Given the description of an element on the screen output the (x, y) to click on. 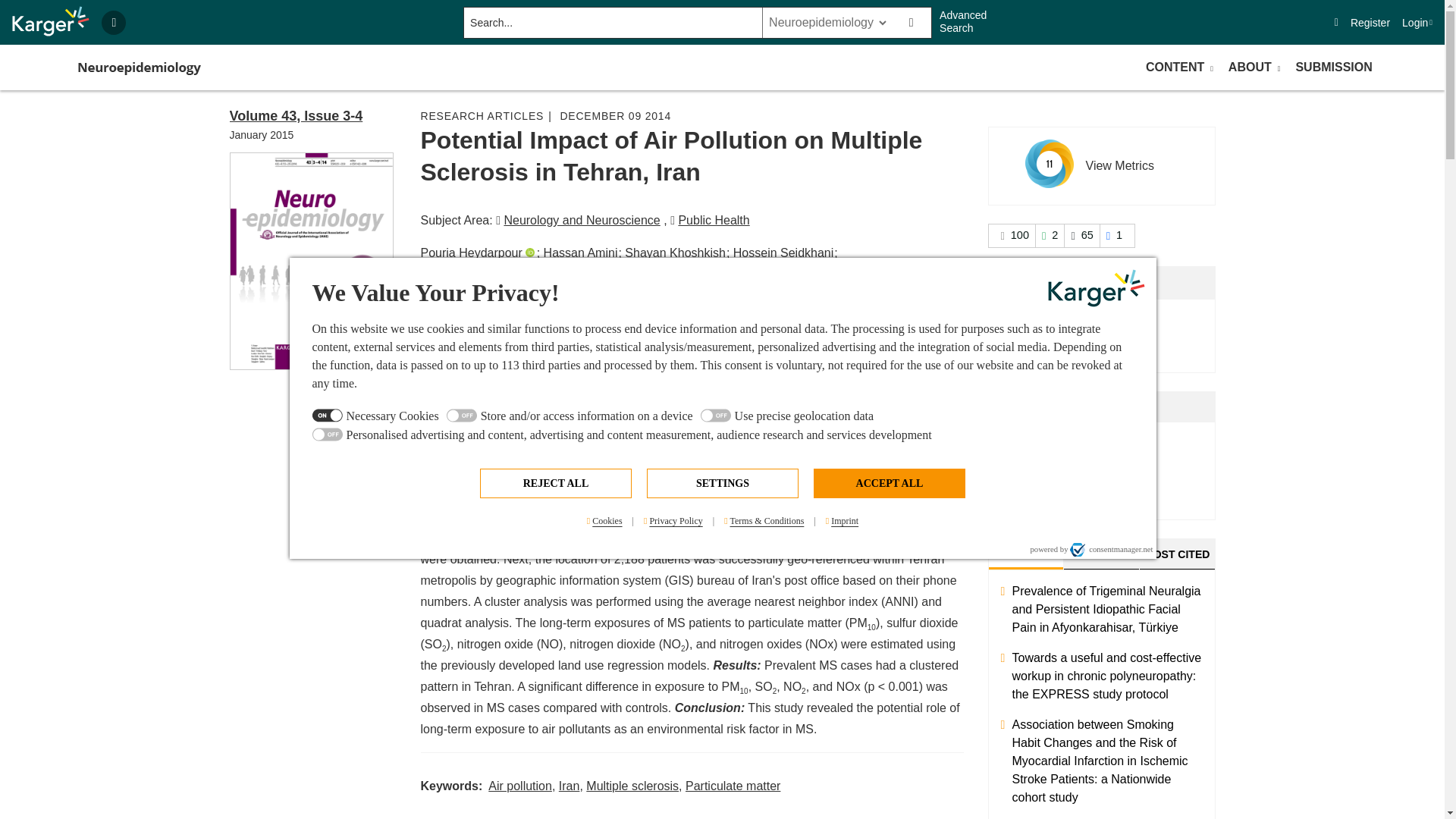
SETTINGS (721, 482)
consentmanager.net (1111, 549)
Privacy Policy (673, 521)
REJECT ALL (555, 482)
Cookies (604, 521)
Purpose (723, 426)
search input (611, 22)
ACCEPT ALL (889, 482)
Imprint (842, 521)
